Given the description of an element on the screen output the (x, y) to click on. 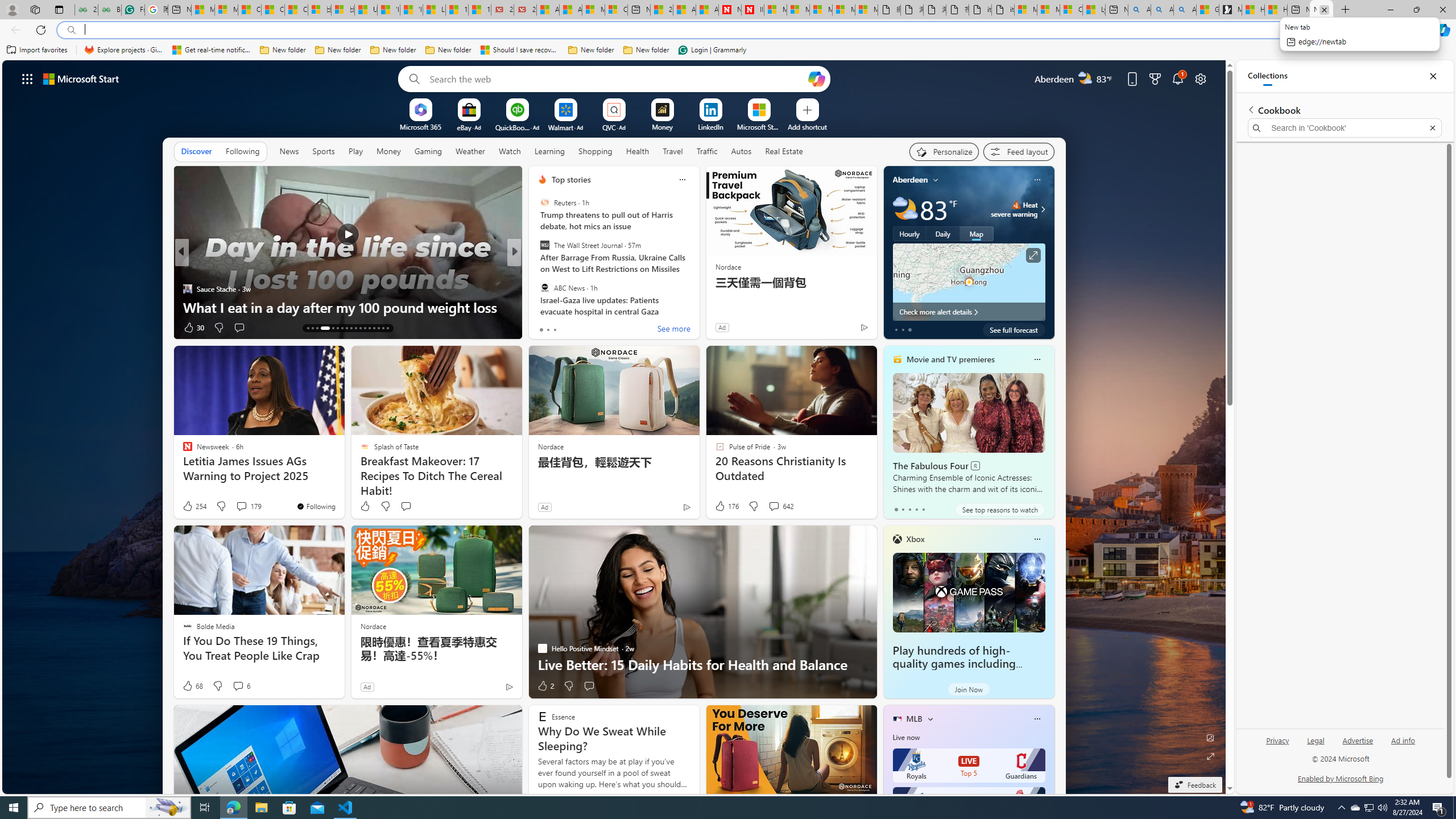
Nordace (372, 625)
Search icon (70, 29)
AutomationID: tab-22 (355, 328)
This story is trending (842, 329)
254 Like (193, 505)
The Register (537, 288)
Reuters (544, 202)
842 Like (545, 327)
How to Use a TV as a Computer Monitor (1275, 9)
Real Estate (783, 151)
